Given the description of an element on the screen output the (x, y) to click on. 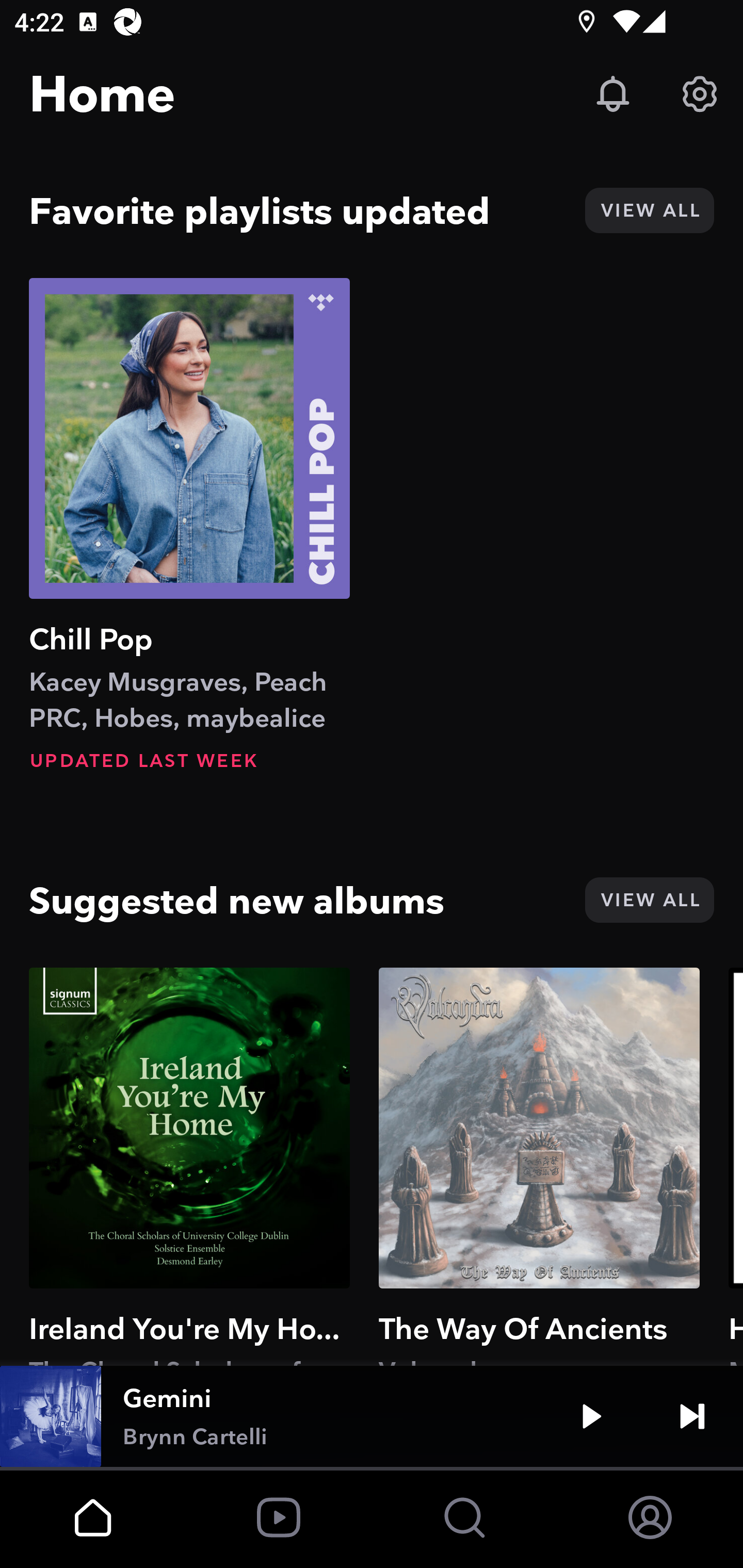
Updates (612, 93)
Settings (699, 93)
VIEW ALL (649, 210)
VIEW ALL (649, 899)
The Way Of Ancients Volcandra (538, 1166)
Gemini Brynn Cartelli Play (371, 1416)
Play (590, 1416)
